Given the description of an element on the screen output the (x, y) to click on. 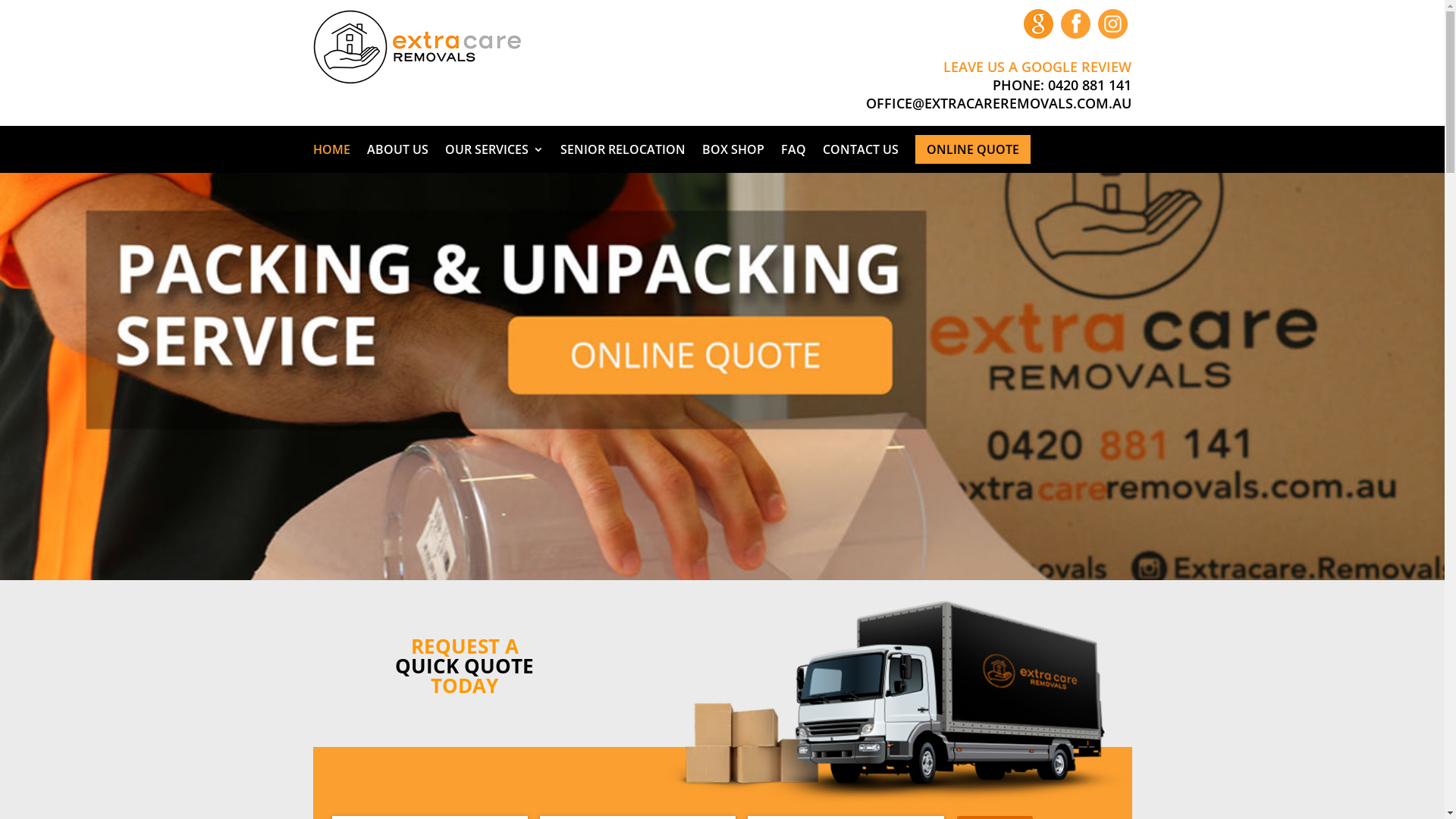
OUR SERVICES Element type: text (493, 148)
0420 881 141 Element type: text (1089, 84)
LEAVE US A GOOGLE REVIEW Element type: text (1037, 66)
ONLINE QUOTE Element type: text (971, 148)
ABOUT US Element type: text (397, 148)
SENIOR RELOCATION Element type: text (621, 148)
CONTACT US Element type: text (859, 148)
FAQ Element type: text (793, 148)
BOX SHOP Element type: text (733, 148)
HOME Element type: text (330, 148)
OFFICE@EXTRACAREREMOVALS.COM.AU Element type: text (998, 103)
